Given the description of an element on the screen output the (x, y) to click on. 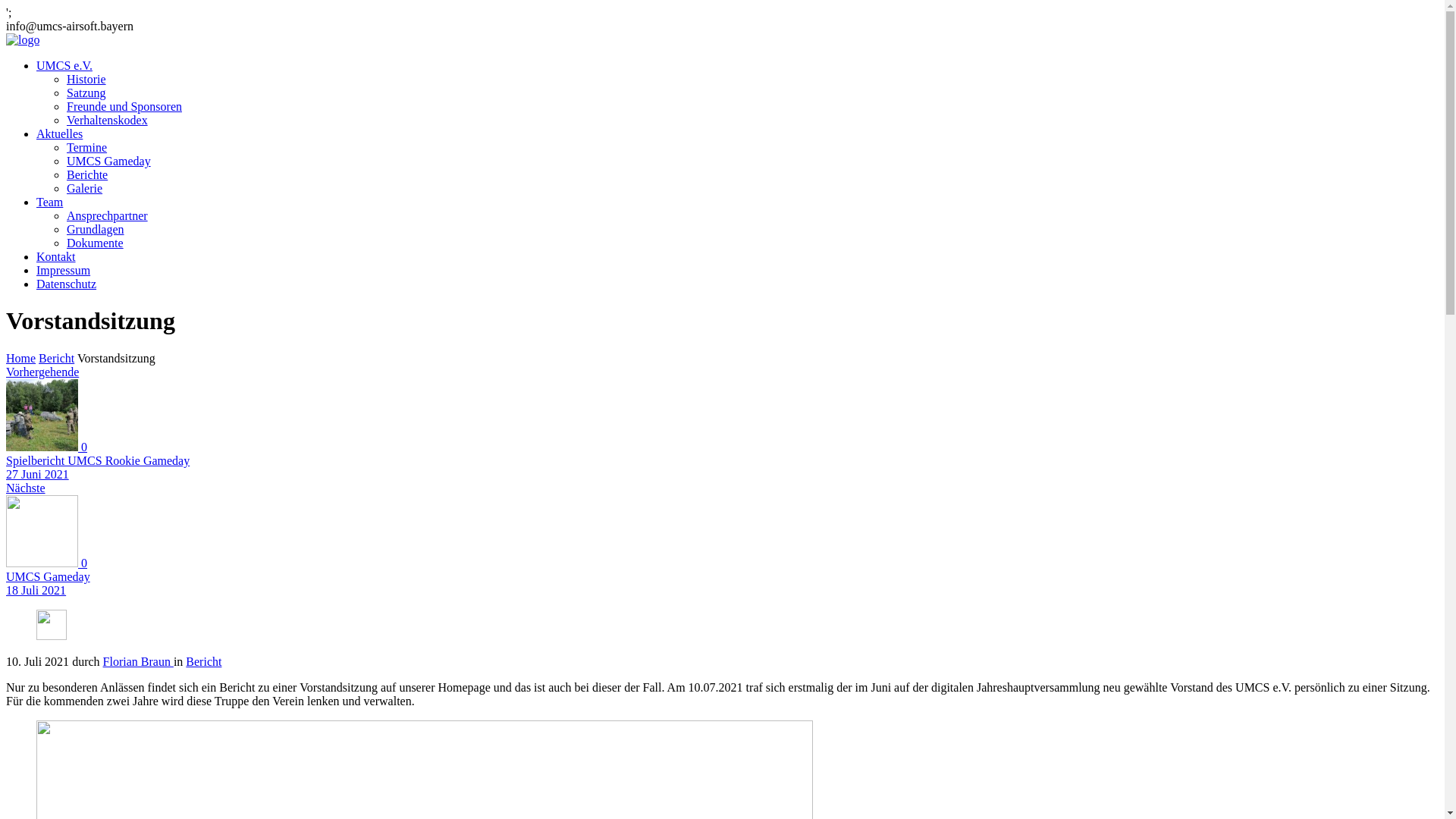
Termine Element type: text (86, 147)
Satzung Element type: text (86, 92)
Home Element type: hover (22, 39)
UMCS e.V. Element type: text (64, 65)
Florian Braun Element type: text (138, 661)
UMCS Gameday Element type: text (108, 160)
Verhaltenskodex Element type: text (106, 119)
Historie Element type: text (86, 78)
Ansprechpartner Element type: text (106, 215)
Aktuelles Element type: text (59, 133)
Dokumente Element type: text (94, 242)
Bericht Element type: text (56, 357)
Bericht Element type: text (203, 661)
Berichte Element type: text (86, 174)
Grundlagen Element type: text (95, 228)
Galerie Element type: text (84, 188)
Datenschutz Element type: text (66, 283)
Home Element type: text (20, 357)
Freunde und Sponsoren Element type: text (124, 106)
Kontakt Element type: text (55, 256)
Team Element type: text (49, 201)
Impressum Element type: text (63, 269)
